Given the description of an element on the screen output the (x, y) to click on. 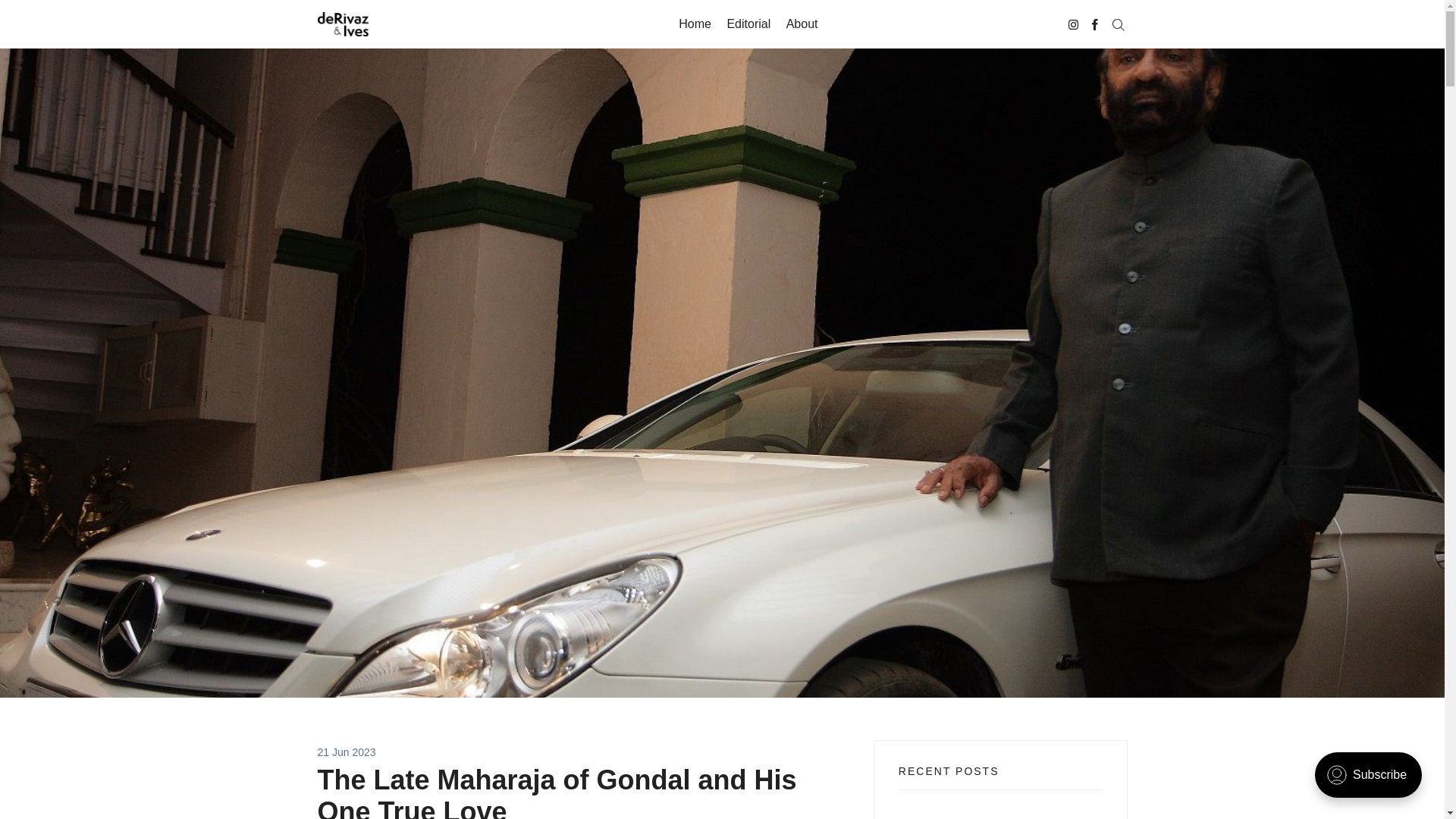
About (802, 24)
Home (694, 24)
Editorial (748, 24)
